Given the description of an element on the screen output the (x, y) to click on. 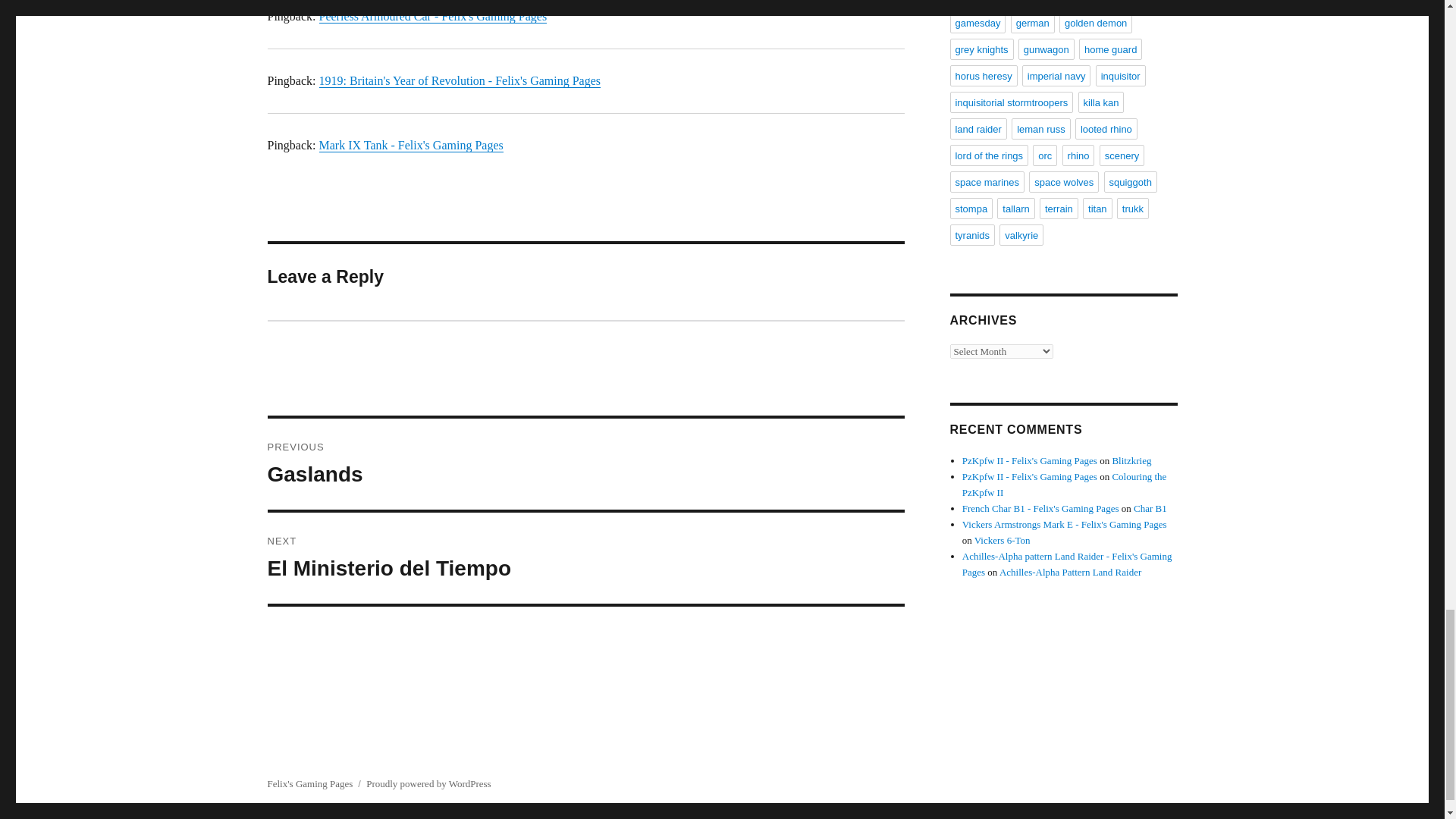
1919: Britain's Year of Revolution - Felix's Gaming Pages (585, 557)
Mark IX Tank - Felix's Gaming Pages (458, 80)
Comment Form (410, 144)
